Given the description of an element on the screen output the (x, y) to click on. 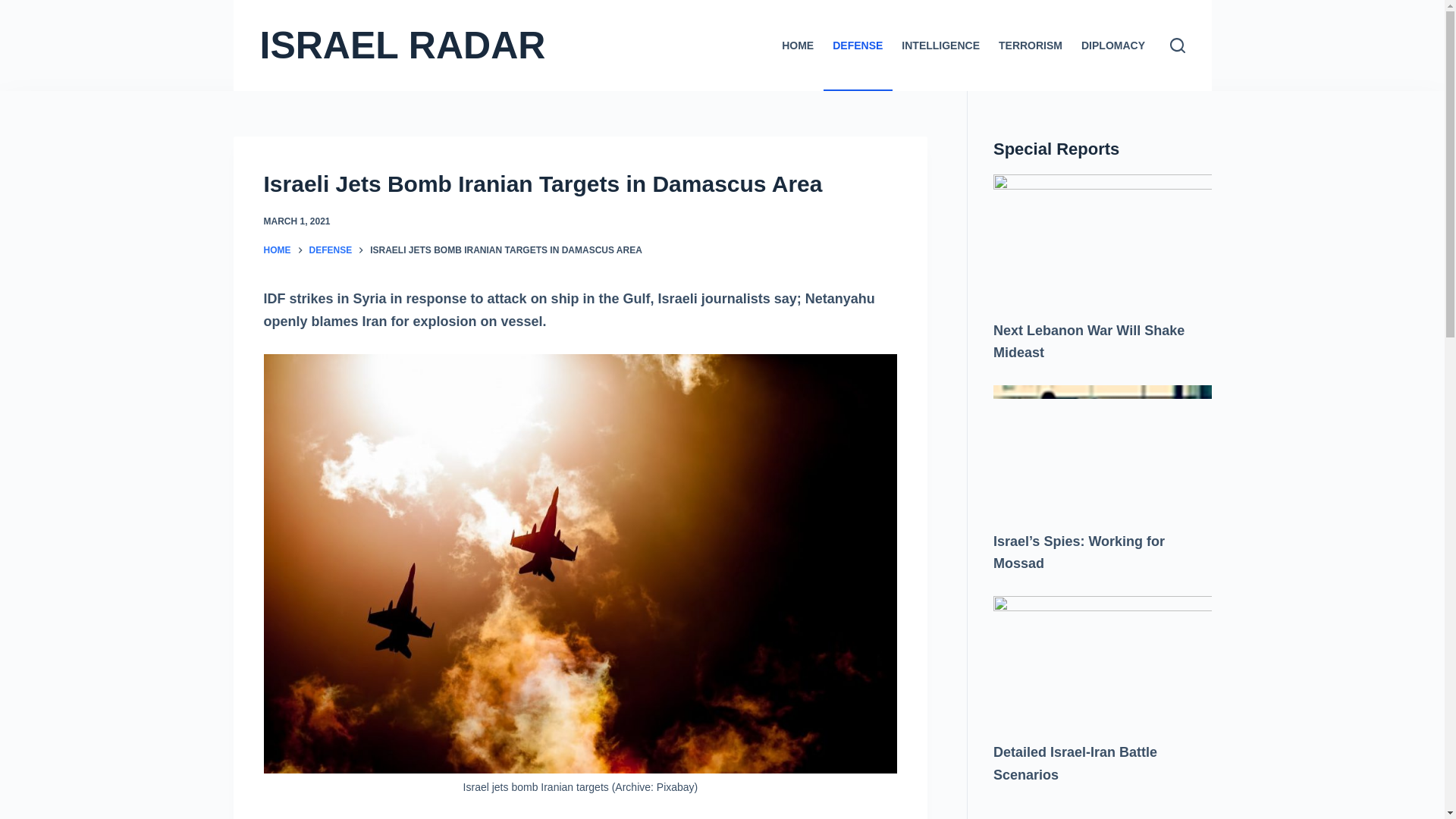
Skip to content (15, 7)
DEFENSE (330, 250)
Israeli Jets Bomb Iranian Targets in Damascus Area (580, 183)
Detailed Israel-Iran Battle Scenarios (1074, 763)
INTELLIGENCE (941, 45)
HOME (798, 45)
ISRAEL RADAR (401, 45)
DIPLOMACY (1112, 45)
HOME (277, 250)
TERRORISM (1029, 45)
Next Lebanon War Will Shake Mideast (1088, 341)
DEFENSE (858, 45)
